Given the description of an element on the screen output the (x, y) to click on. 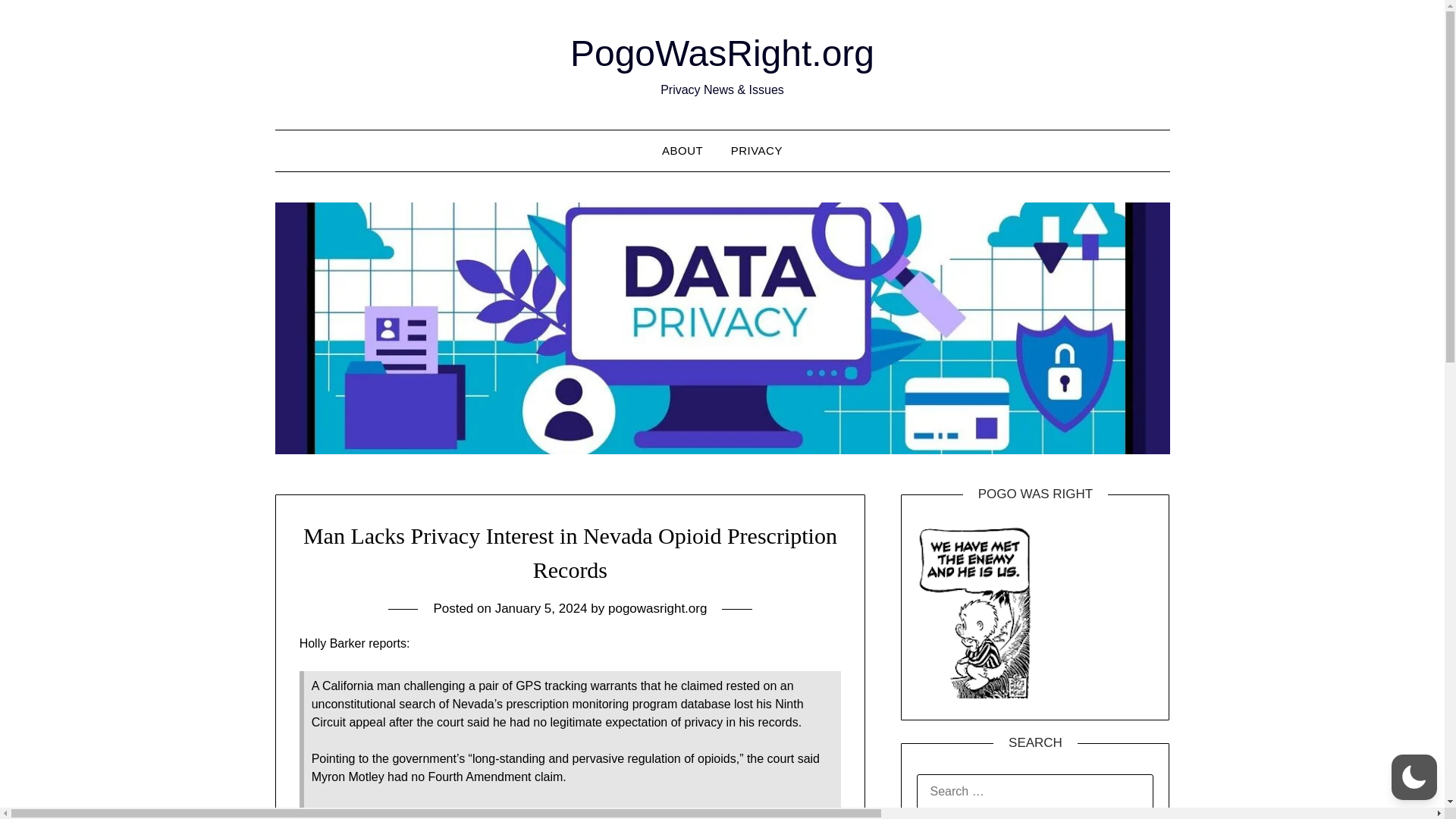
PogoWasRight.org (722, 53)
Search (38, 22)
January 5, 2024 (541, 608)
PRIVACY (756, 150)
ABOUT (681, 150)
pogowasright.org (657, 608)
